Given the description of an element on the screen output the (x, y) to click on. 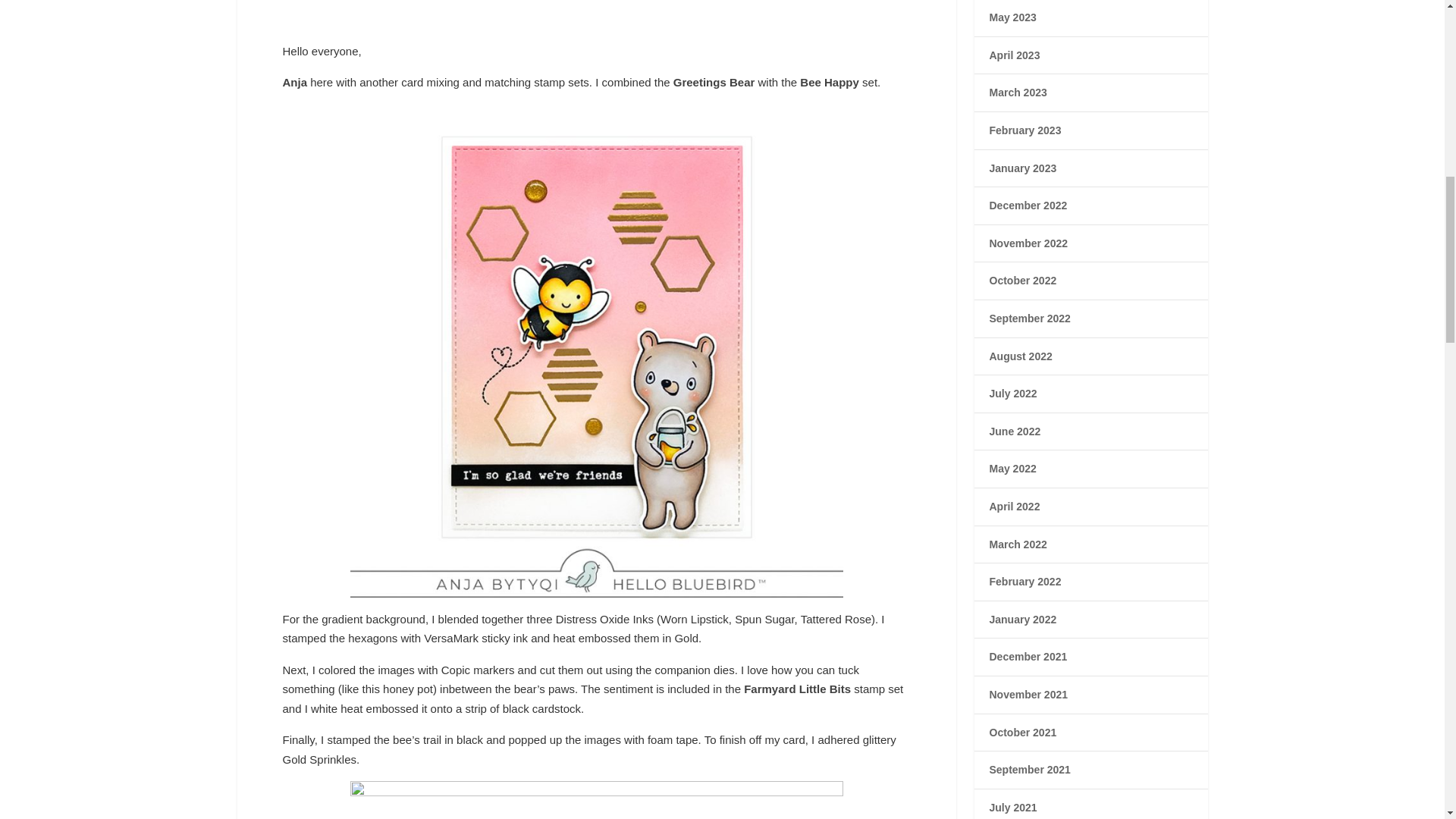
Farmyard Little Bits (797, 688)
Bee Happy (829, 82)
Greetings Bear (713, 82)
Anja (294, 82)
